Given the description of an element on the screen output the (x, y) to click on. 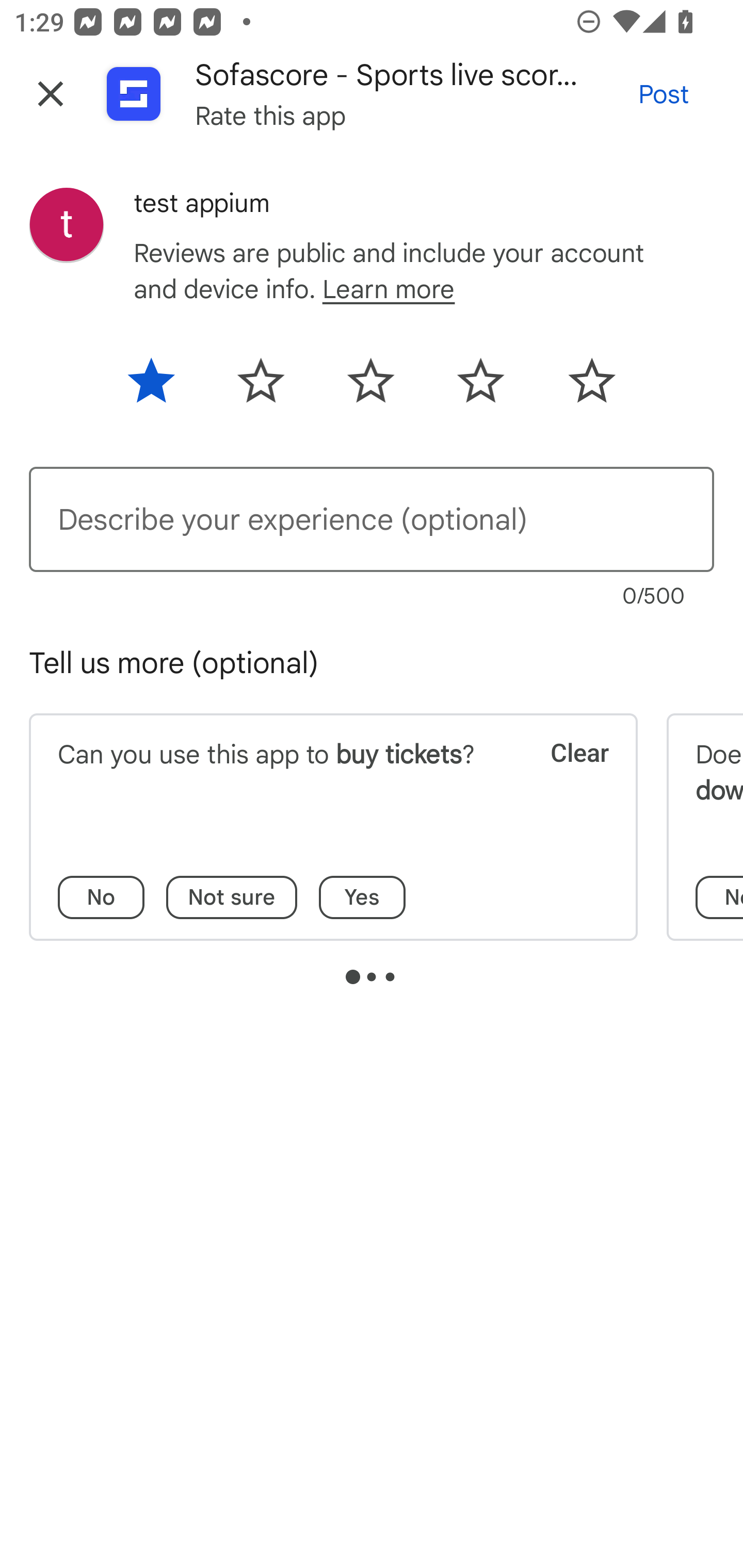
Close (50, 93)
Post (663, 93)
First star selected (163, 387)
Second star unselected (260, 387)
Third star unselected (370, 387)
Fourth star unselected (480, 387)
Fifth star unselected (577, 387)
Describe your experience (optional) (371, 519)
Clear (565, 778)
No (100, 897)
Not sure (231, 897)
Yes (361, 897)
